Given the description of an element on the screen output the (x, y) to click on. 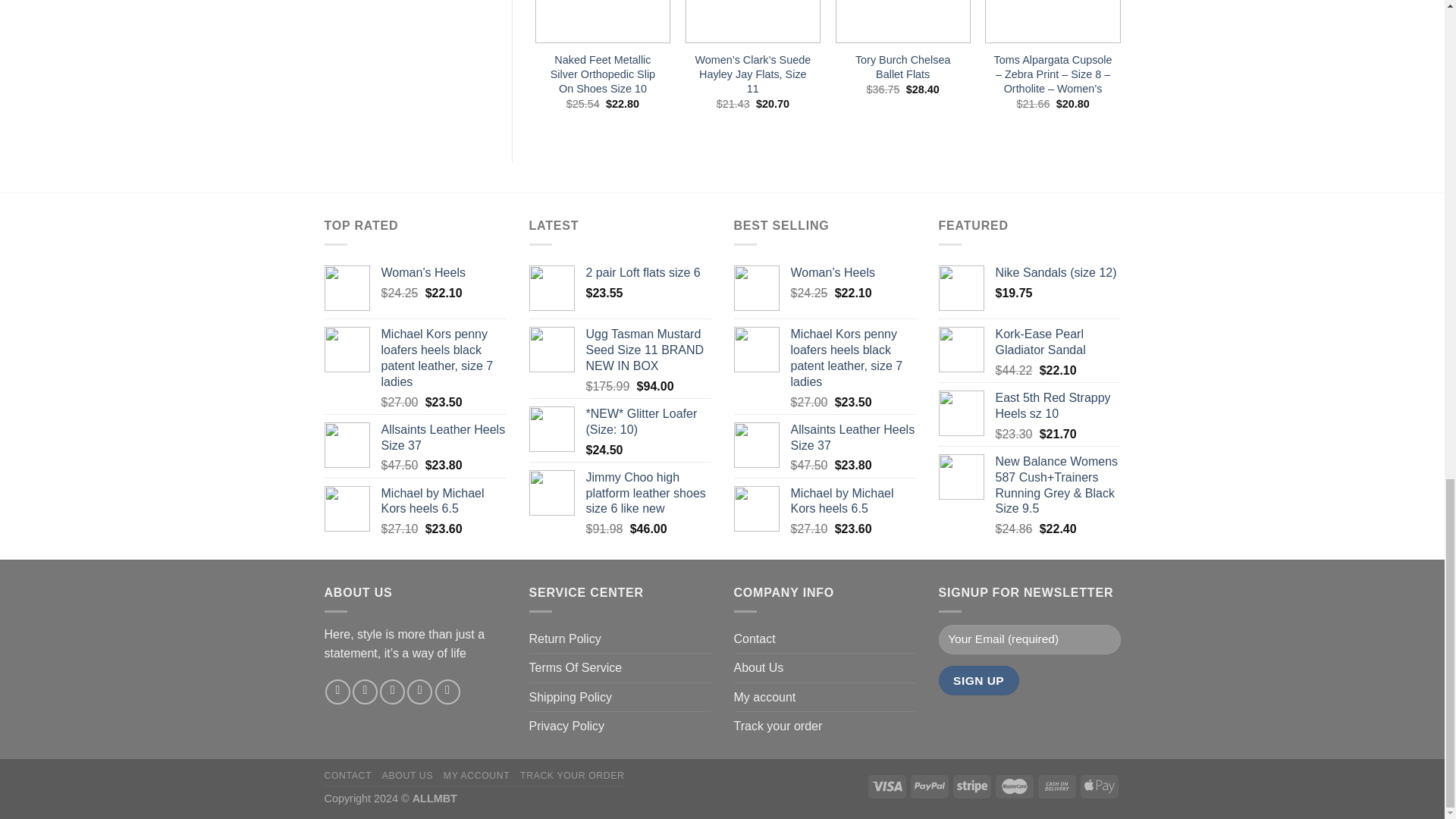
Sign Up (979, 680)
